Given the description of an element on the screen output the (x, y) to click on. 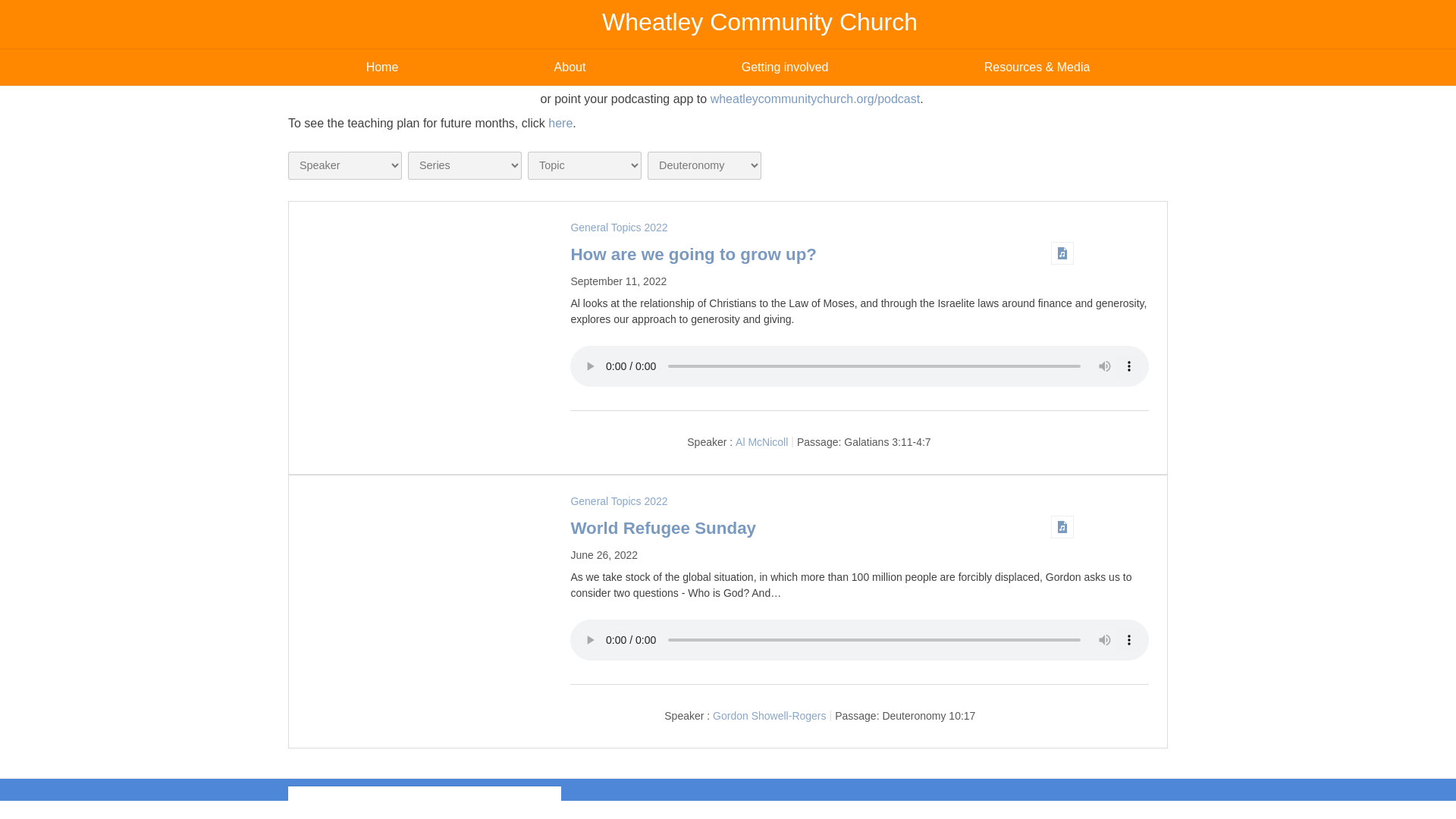
General Topics 2022 (618, 227)
About (569, 67)
Audio (1062, 526)
Topic (584, 165)
How are we going to grow up? (693, 253)
Book (704, 165)
here (560, 123)
Series (464, 165)
Getting involved (784, 67)
Audio (1062, 252)
